Given the description of an element on the screen output the (x, y) to click on. 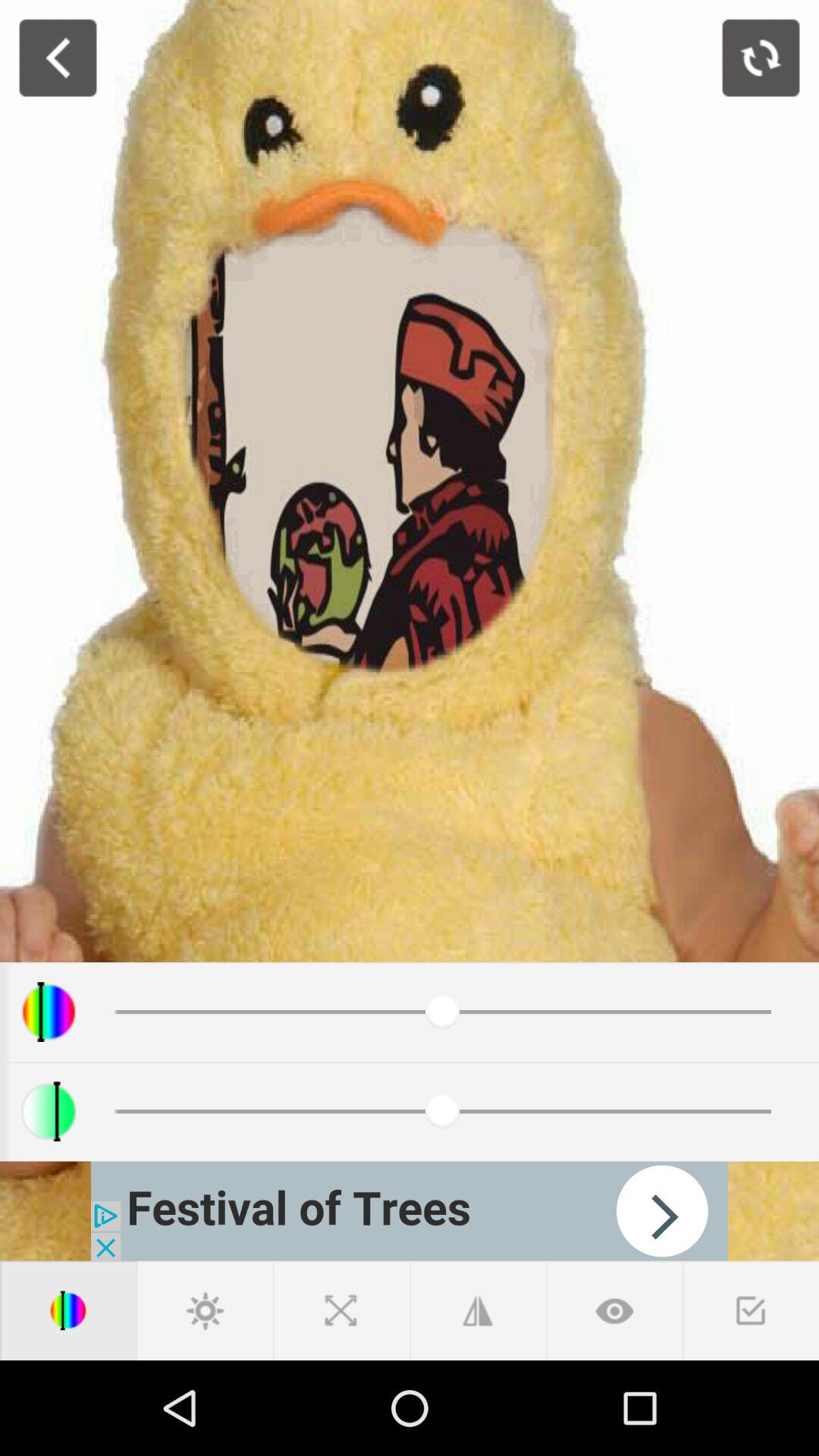
switch brightness (204, 1310)
